Given the description of an element on the screen output the (x, y) to click on. 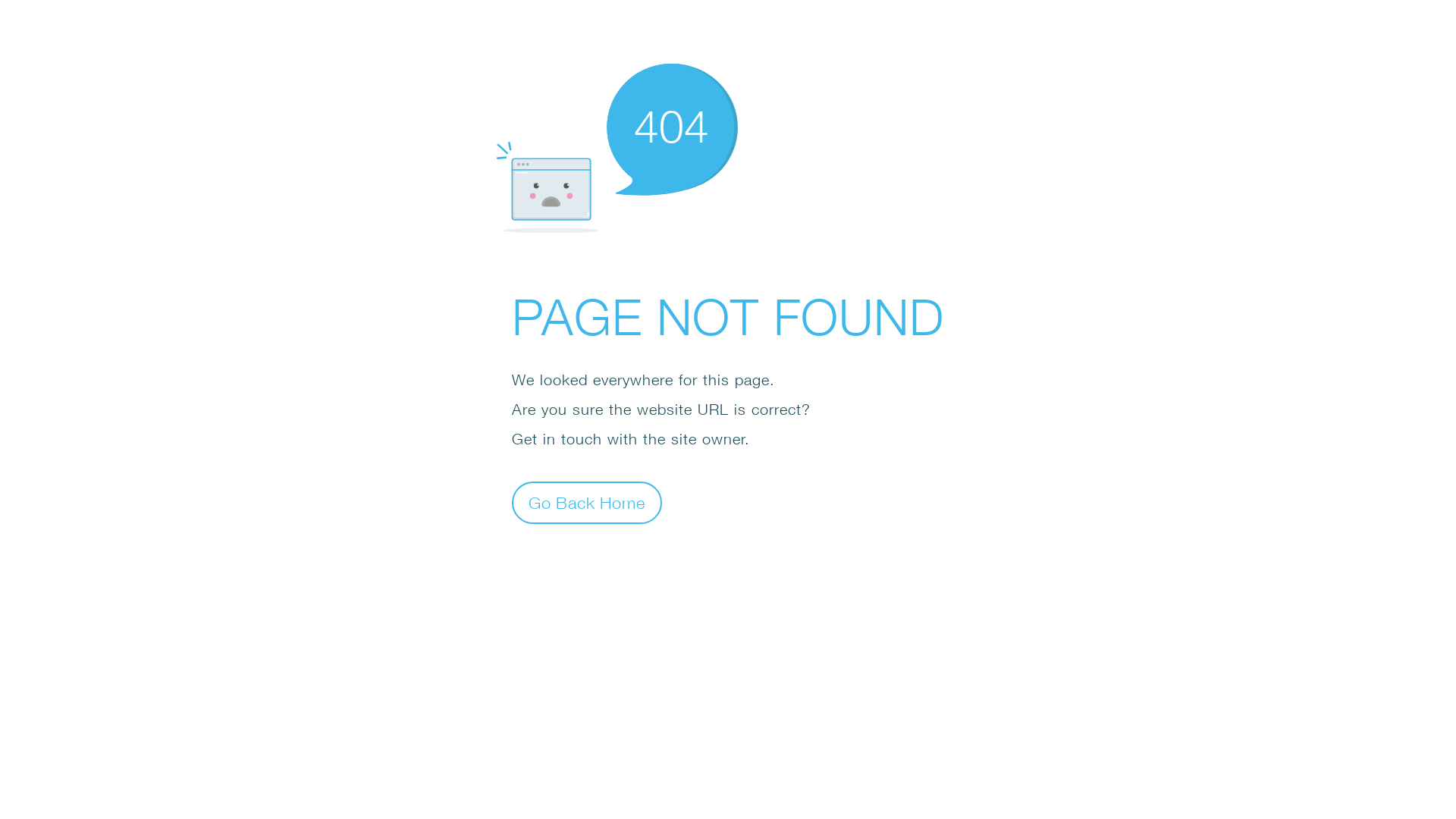
Go Back Home Element type: text (586, 502)
